Given the description of an element on the screen output the (x, y) to click on. 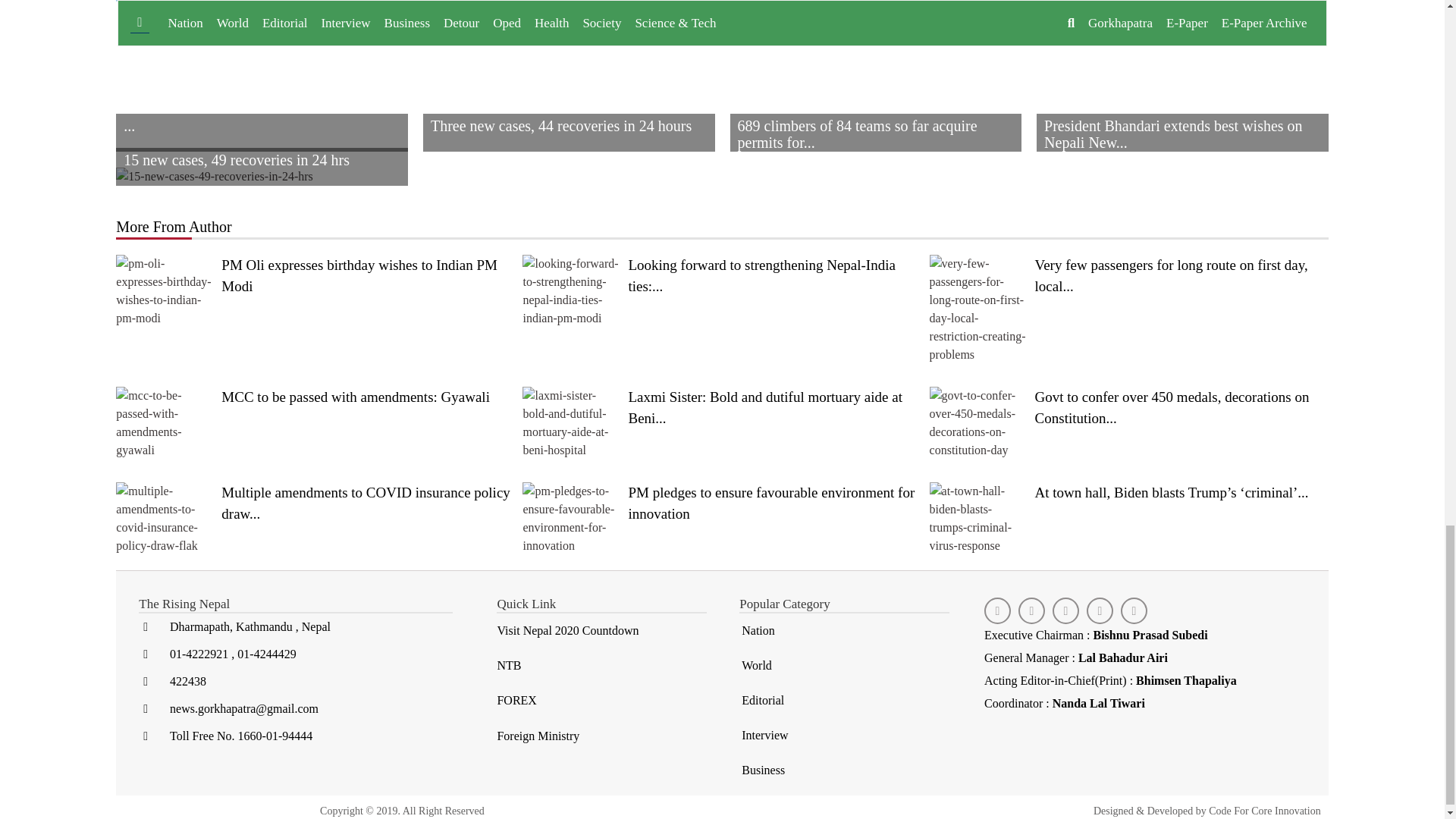
Looking forward to strengthening Nepal-India ties:... (721, 290)
689 climbers of 84 teams so far acquire permits for... (875, 22)
... (261, 108)
15 new cases, 49 recoveries in 24 hrs (261, 176)
Three new cases, 44 recoveries in 24 hours (568, 10)
PM Oli expresses birthday wishes to Indian PM Modi (315, 290)
